Given the description of an element on the screen output the (x, y) to click on. 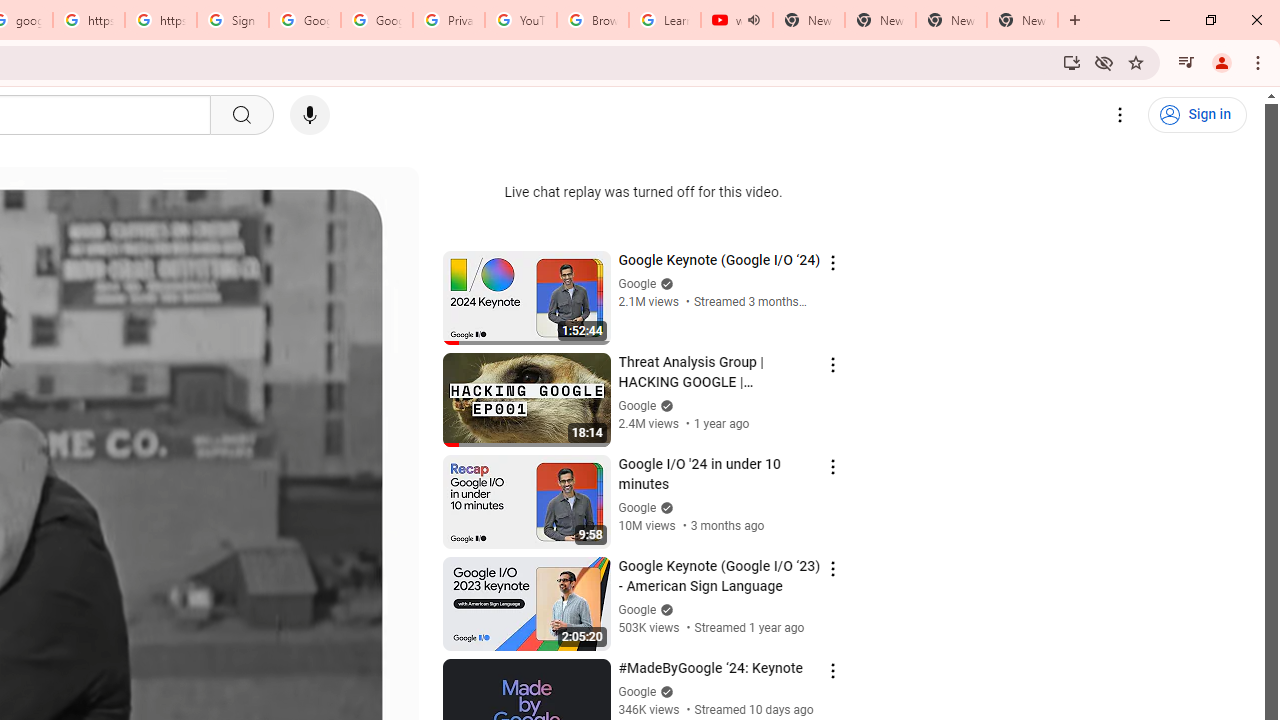
https://scholar.google.com/ (161, 20)
YouTube (520, 20)
New Tab (1022, 20)
